Given the description of an element on the screen output the (x, y) to click on. 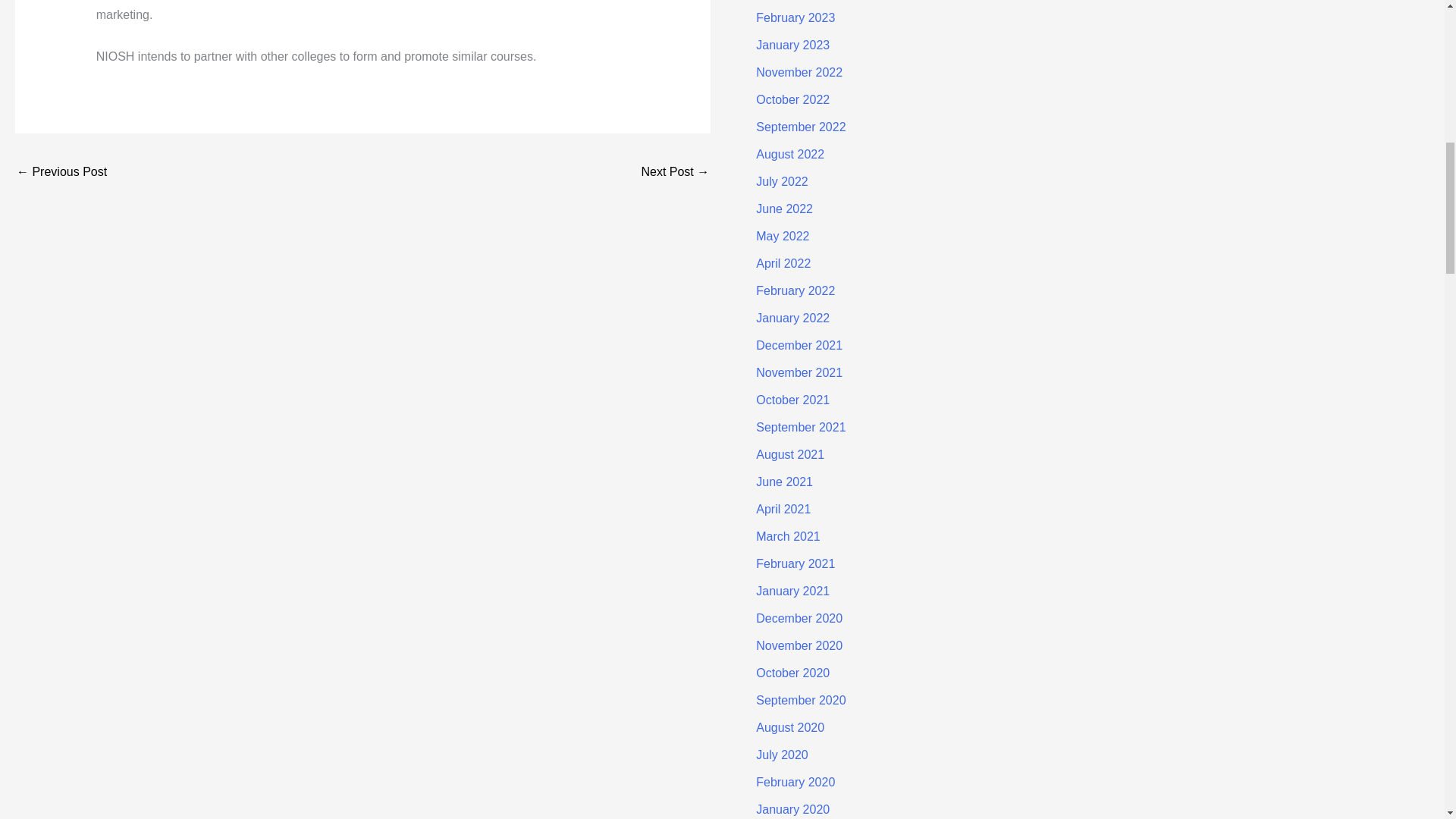
October 2022 (792, 99)
July 2022 (781, 181)
Hidden Signs of Progress Against Cancer (61, 172)
September 2022 (800, 126)
February 2023 (794, 17)
August 2022 (789, 154)
January 2023 (792, 44)
Surgeon General Finally Issues Written Warning of Asbestos (674, 172)
November 2022 (799, 72)
